Given the description of an element on the screen output the (x, y) to click on. 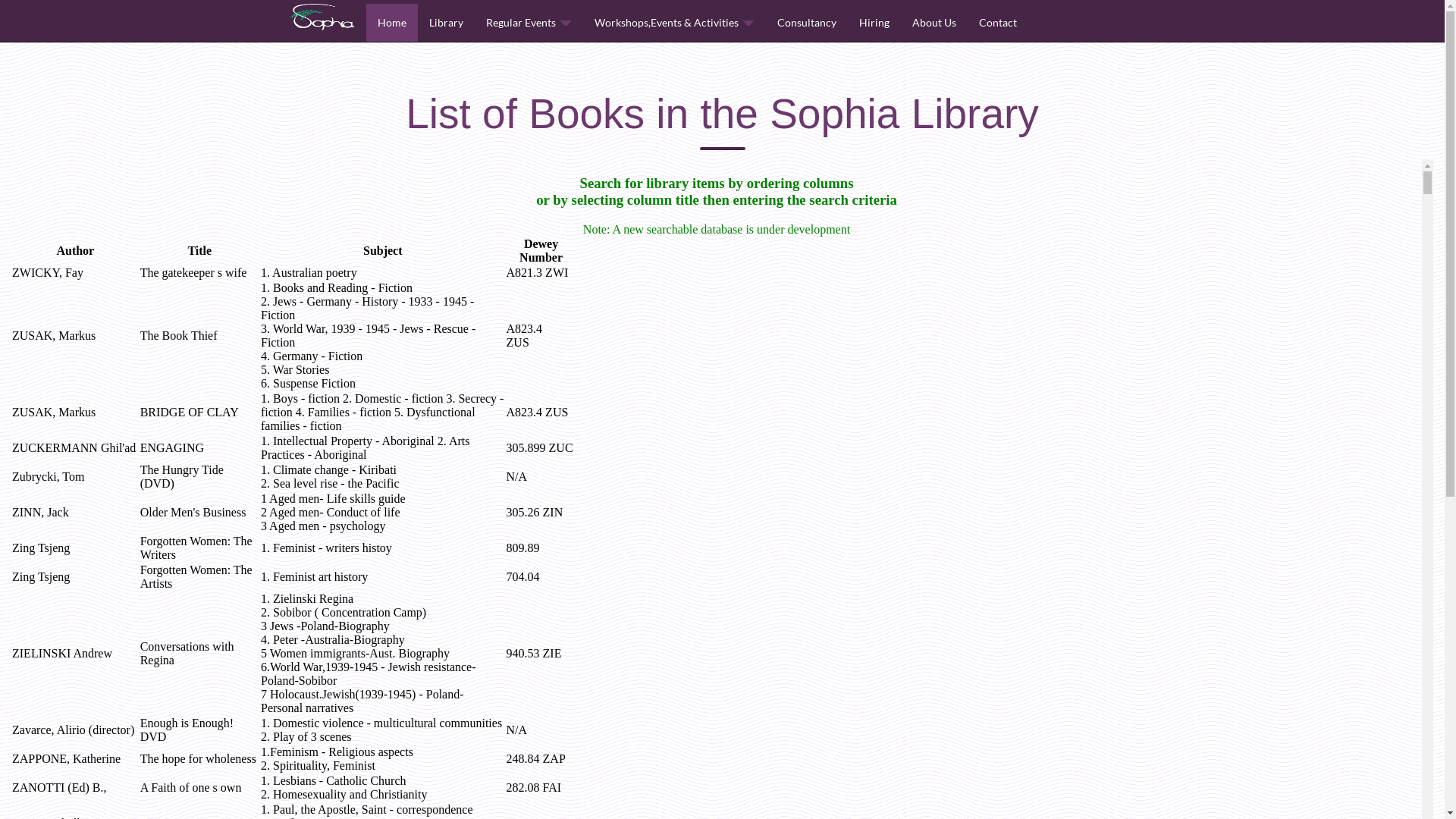
Regular Events Element type: text (528, 22)
Home Element type: text (391, 22)
Library Element type: text (445, 22)
Workshops,Events & Activities Element type: text (673, 22)
Hiring Element type: text (873, 22)
About Us Element type: text (933, 22)
Contact Element type: text (997, 22)
Consultancy Element type: text (806, 22)
